Given the description of an element on the screen output the (x, y) to click on. 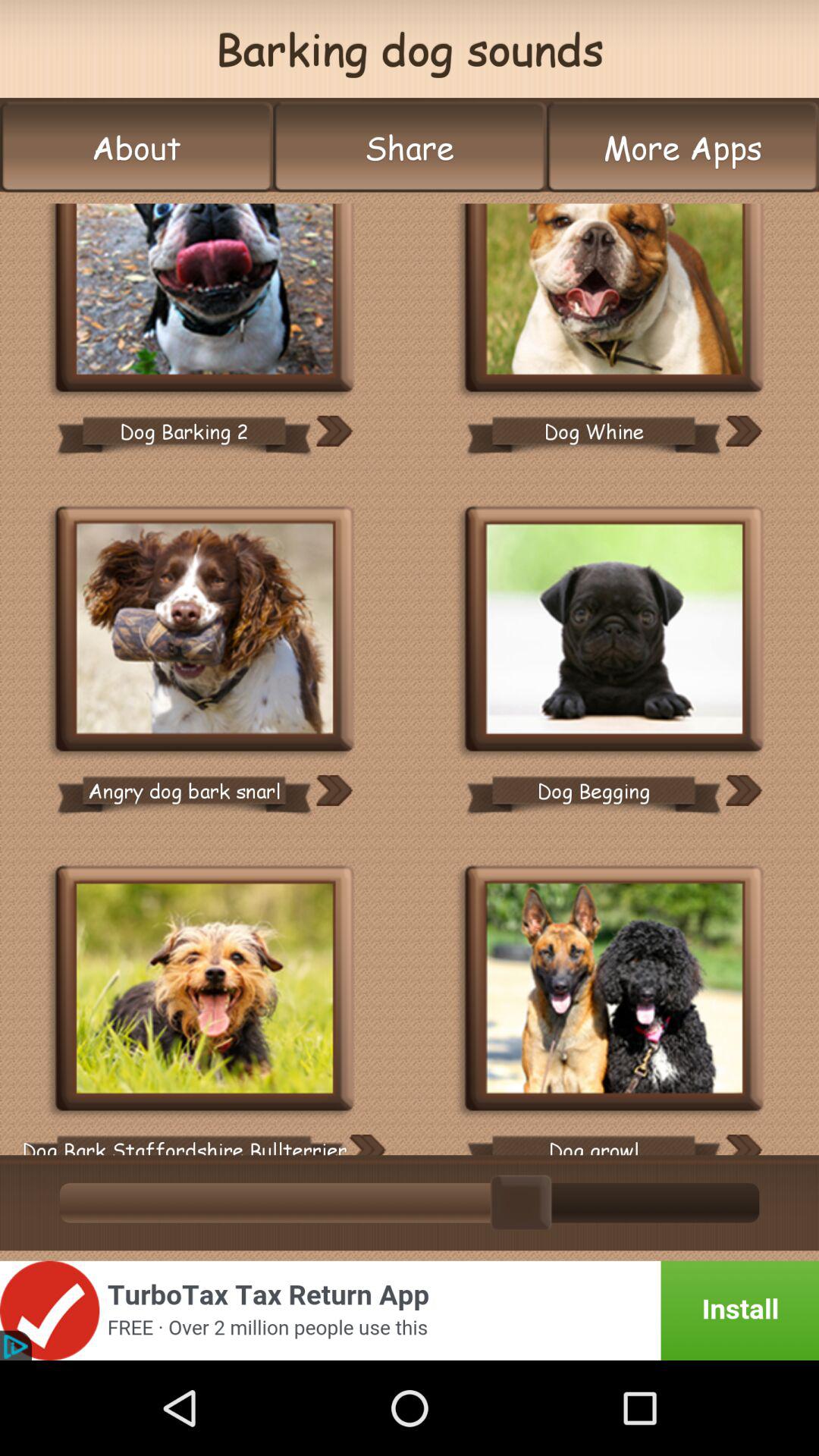
play audio (743, 1144)
